Given the description of an element on the screen output the (x, y) to click on. 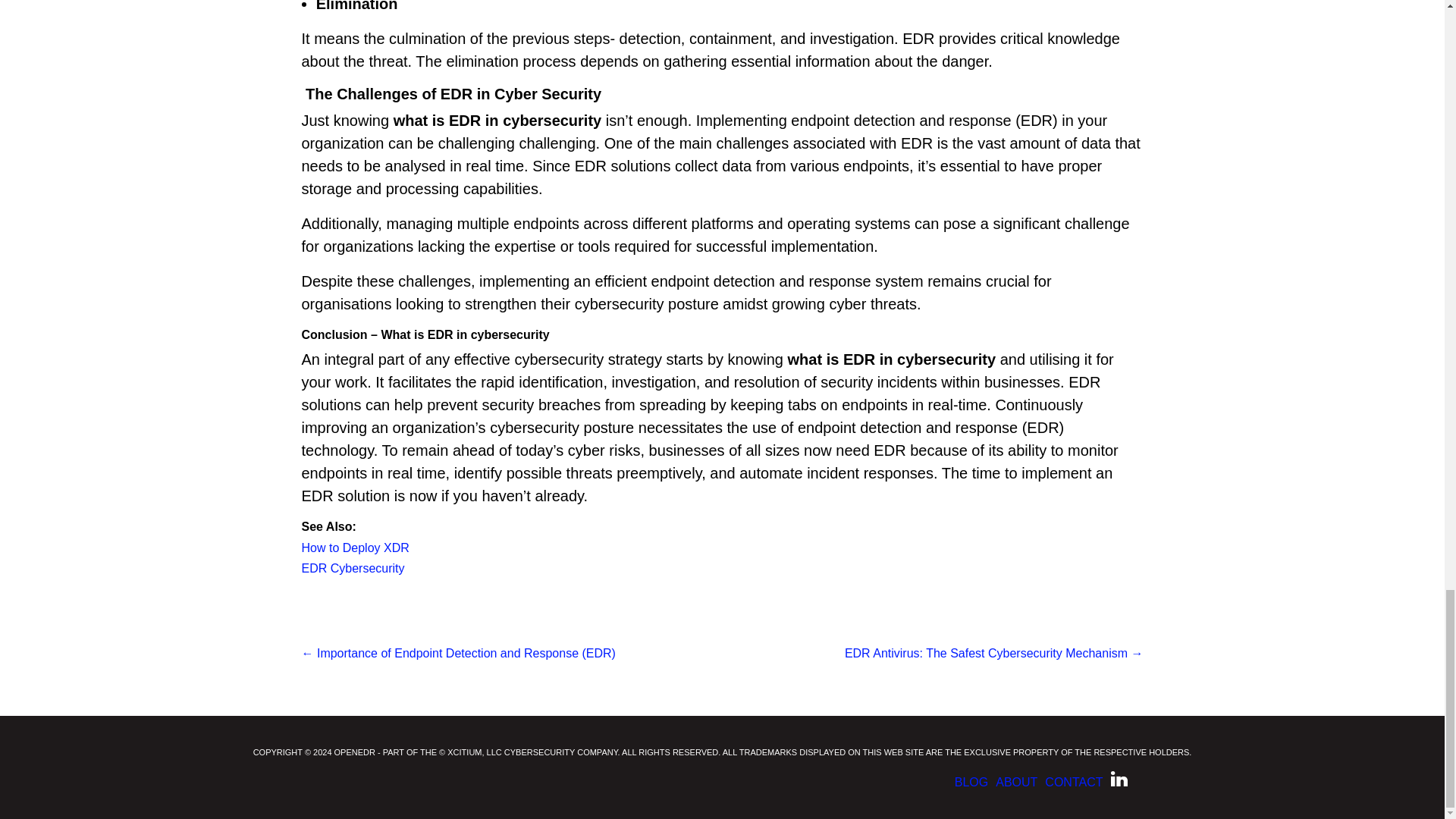
CONTACT (1073, 782)
EDR Cybersecurity (352, 567)
BLOG (971, 782)
ABOUT (1015, 782)
How to Deploy XDR (355, 547)
